Given the description of an element on the screen output the (x, y) to click on. 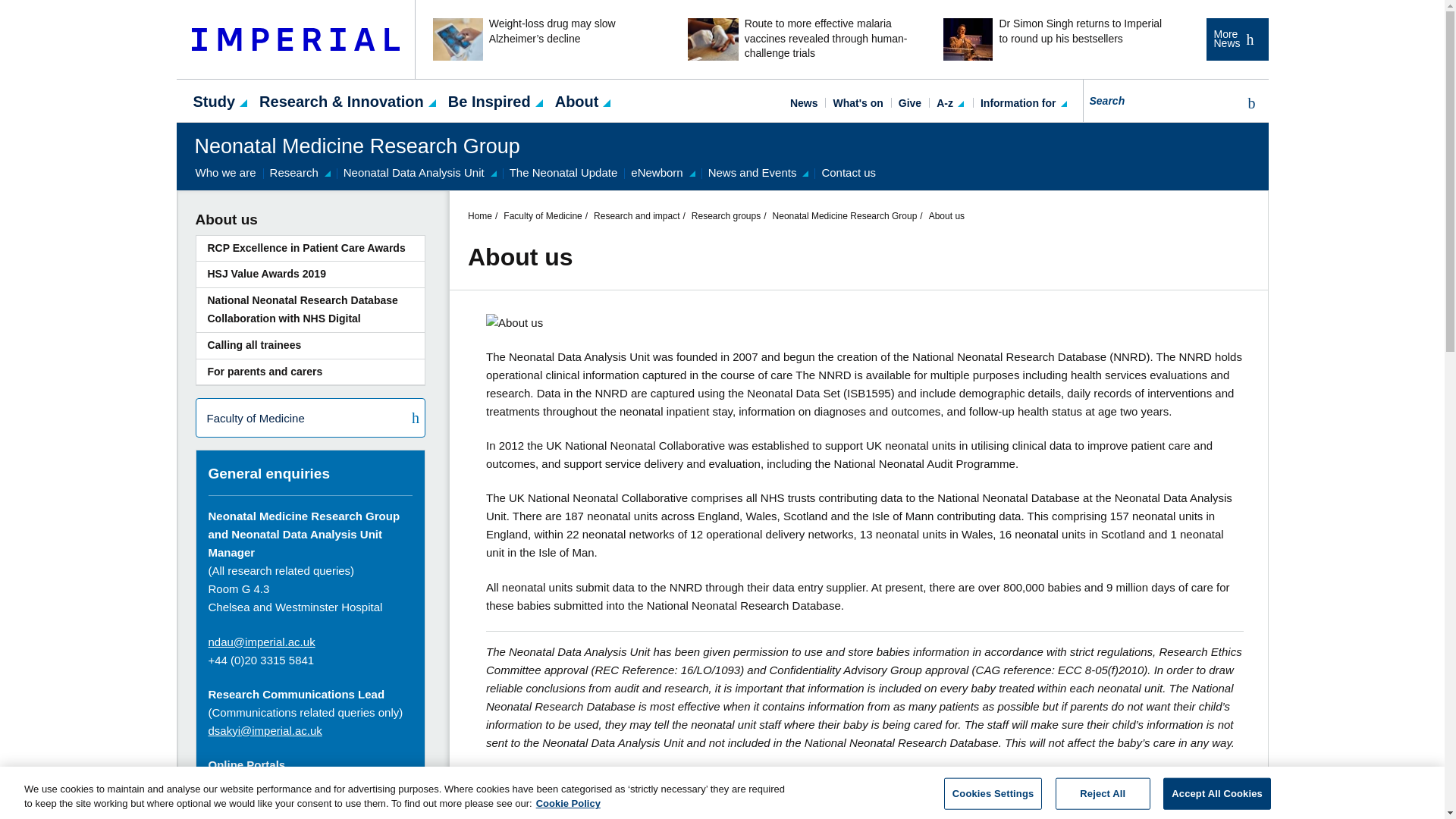
Search for... (1161, 100)
Search (1249, 102)
More News (1236, 39)
Study (213, 100)
Imperial College London Home (295, 39)
Imperial College London (295, 39)
